Given the description of an element on the screen output the (x, y) to click on. 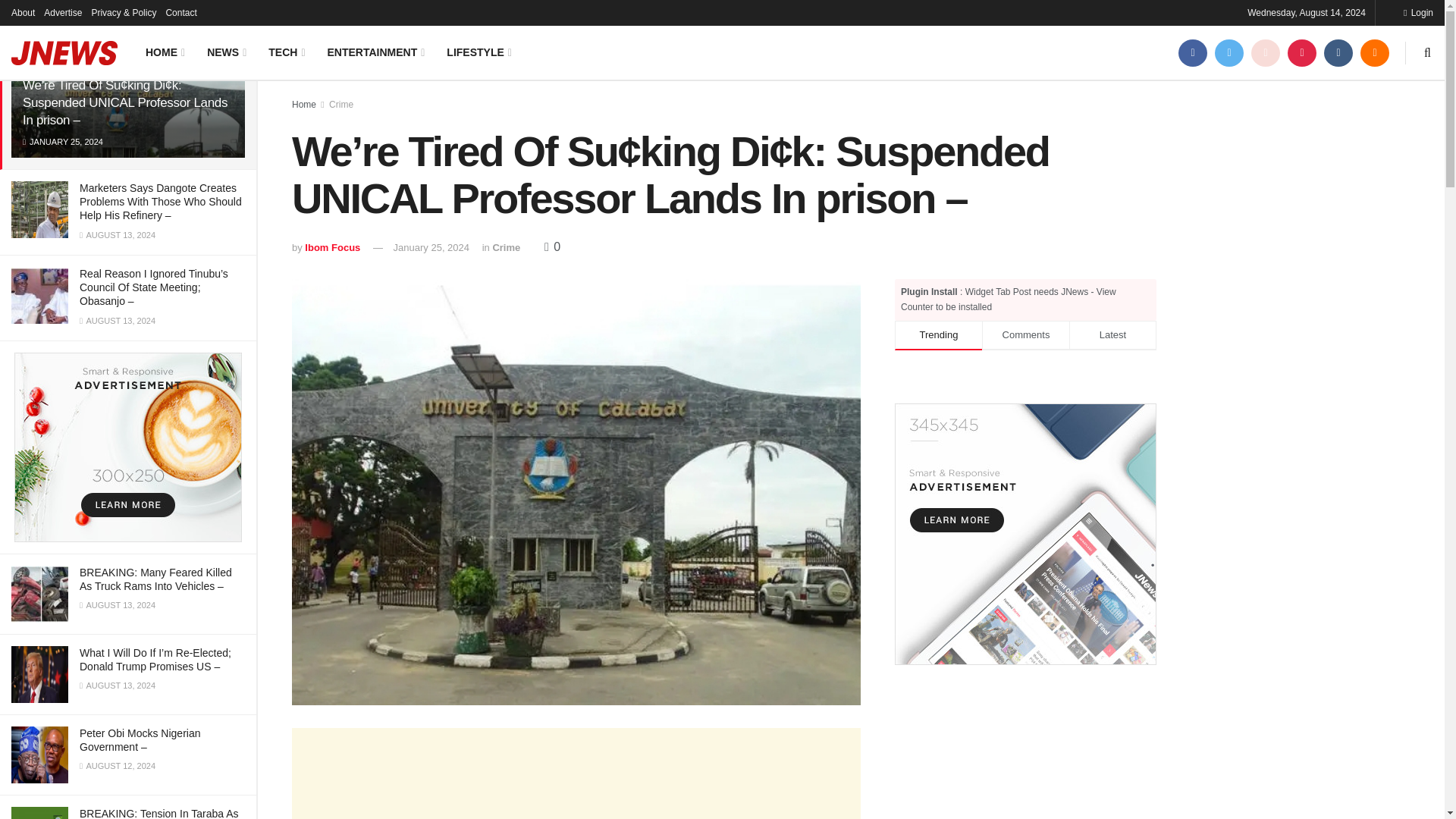
Advertise (62, 12)
Filter (227, 13)
Peter Obi Mocks Nigerian Government - 6 (39, 754)
BREAKING: Many Feared Killed As Truck Rams Into Vehicles - 4 (39, 593)
About (22, 12)
